Given the description of an element on the screen output the (x, y) to click on. 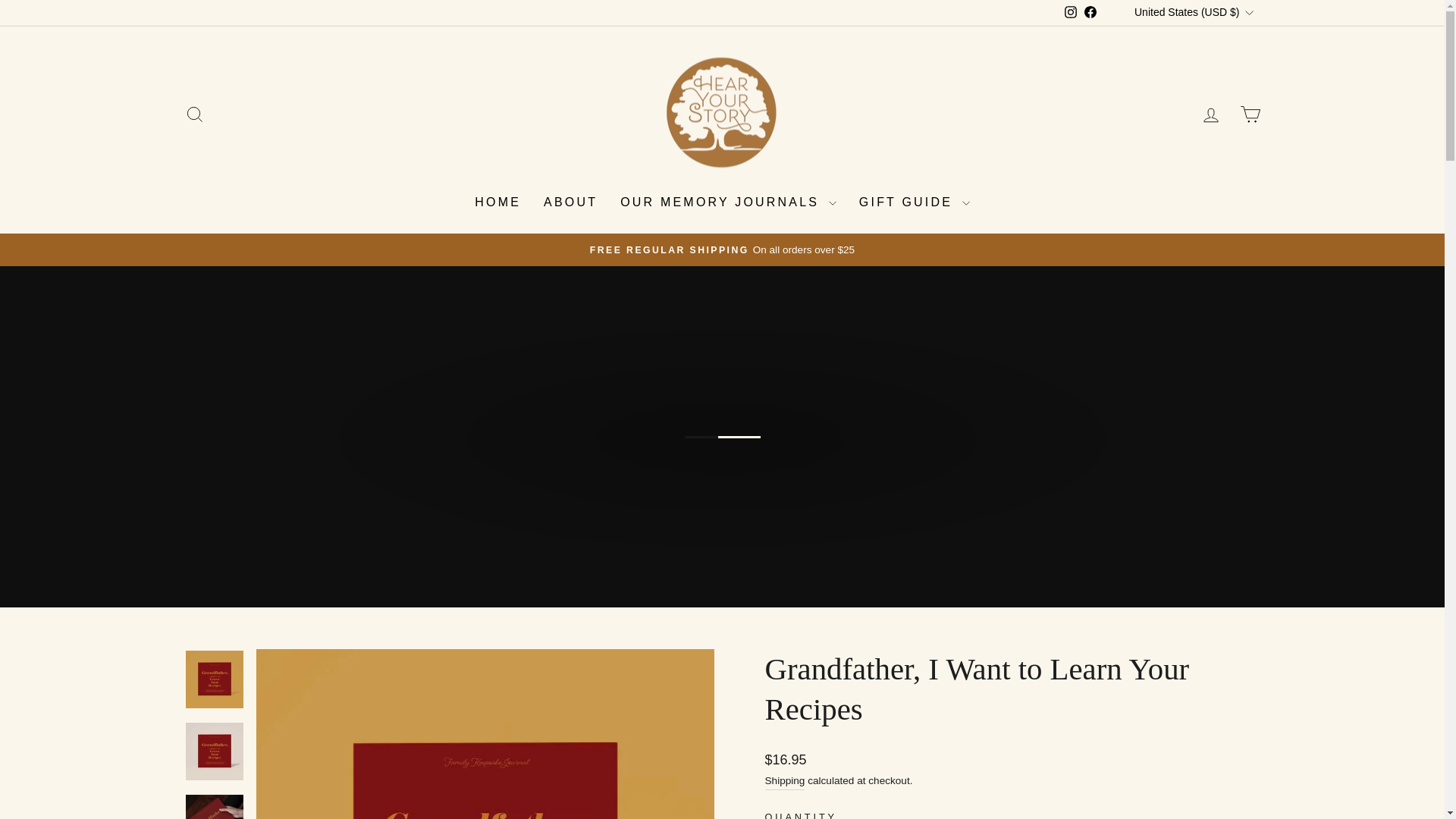
instagram (1070, 11)
ICON-SEARCH (194, 114)
ACCOUNT (1210, 115)
